Given the description of an element on the screen output the (x, y) to click on. 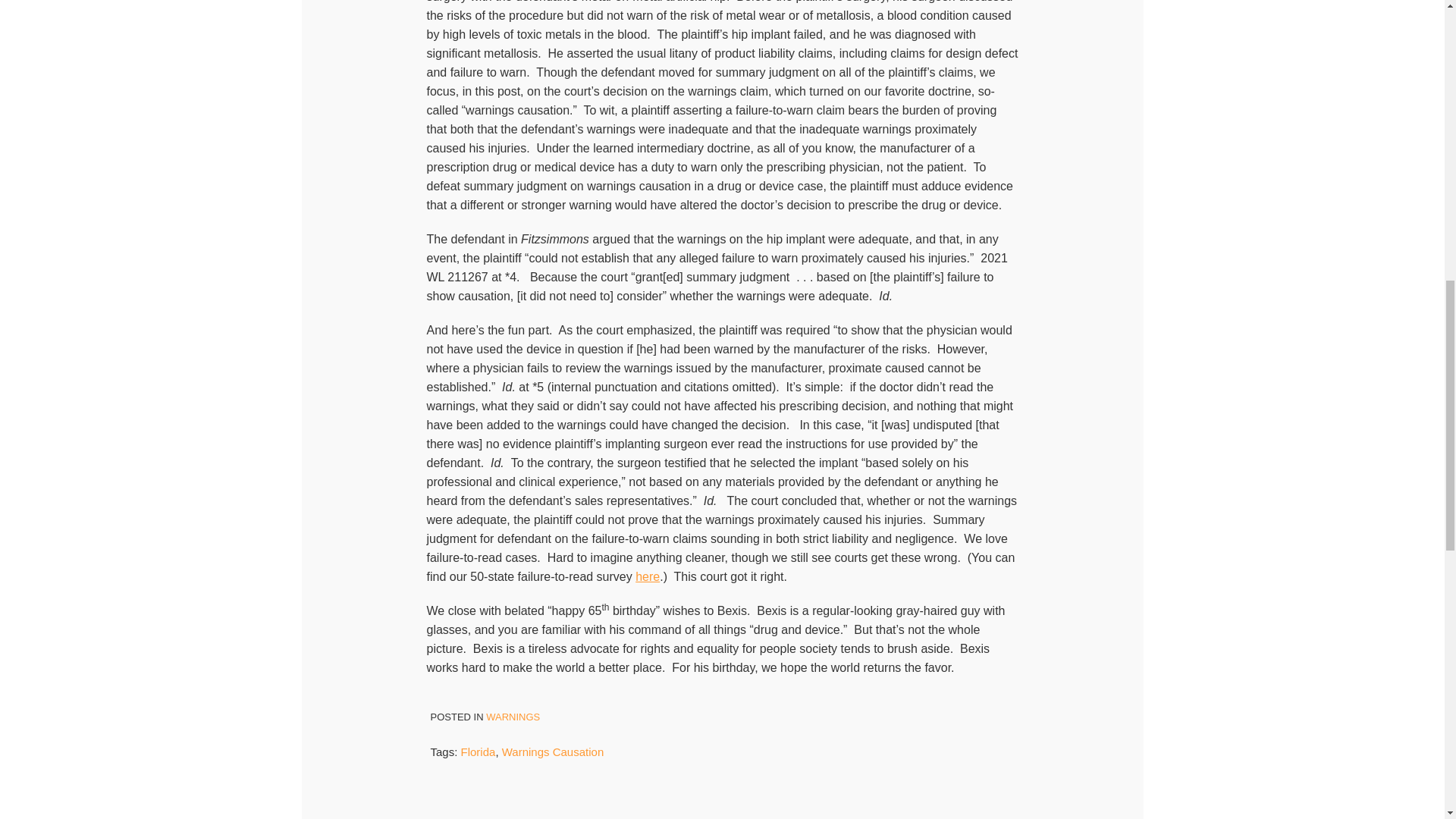
here (646, 576)
WARNINGS (513, 716)
Florida (478, 751)
Warnings Causation (553, 751)
